Given the description of an element on the screen output the (x, y) to click on. 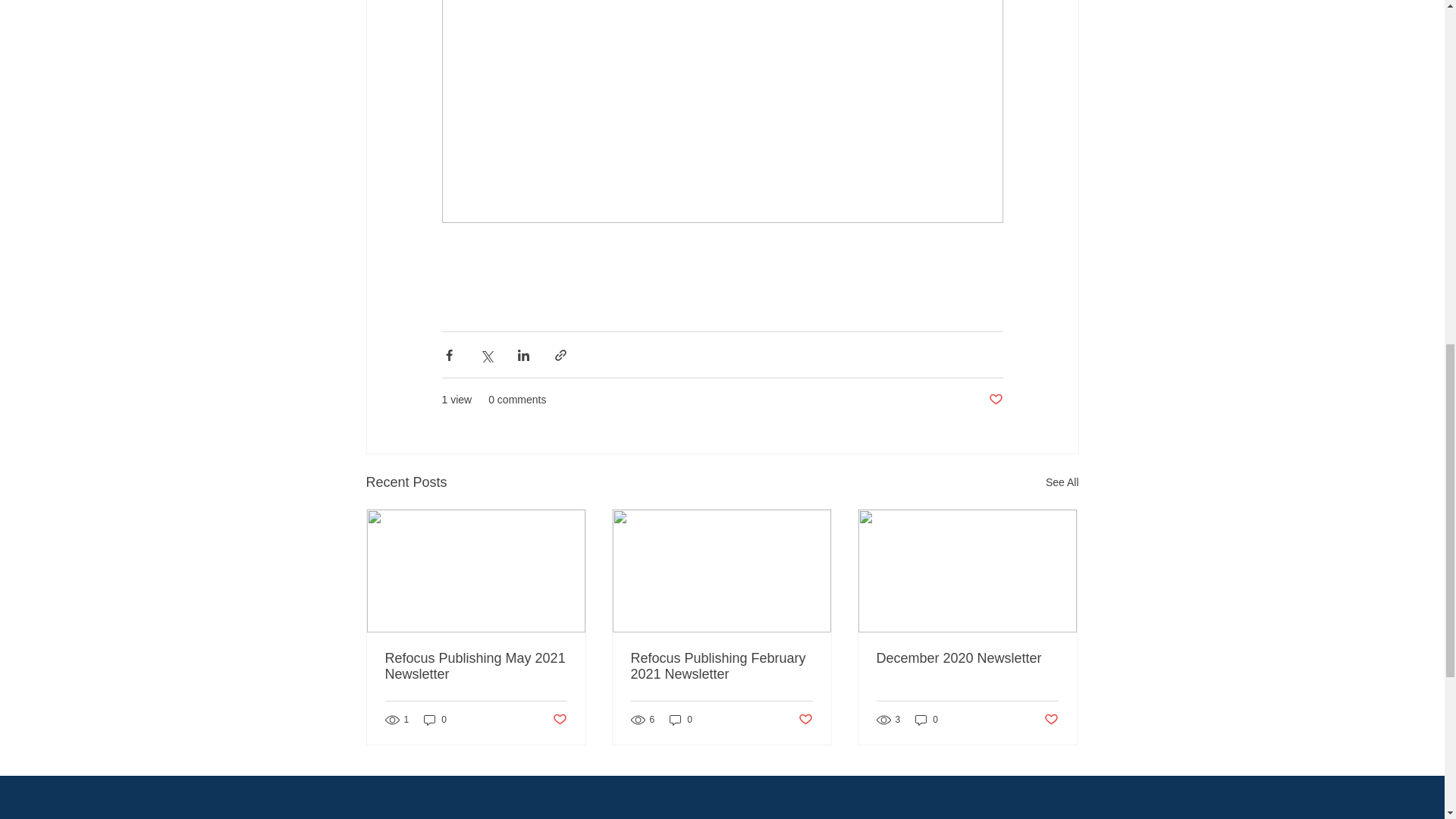
See All (1061, 482)
0 (435, 719)
0 (926, 719)
Post not marked as liked (1050, 719)
0 (681, 719)
Post not marked as liked (995, 399)
Refocus Publishing May 2021 Newsletter (476, 666)
Post not marked as liked (558, 719)
Refocus Publishing February 2021 Newsletter (721, 666)
Post not marked as liked (804, 719)
